Given the description of an element on the screen output the (x, y) to click on. 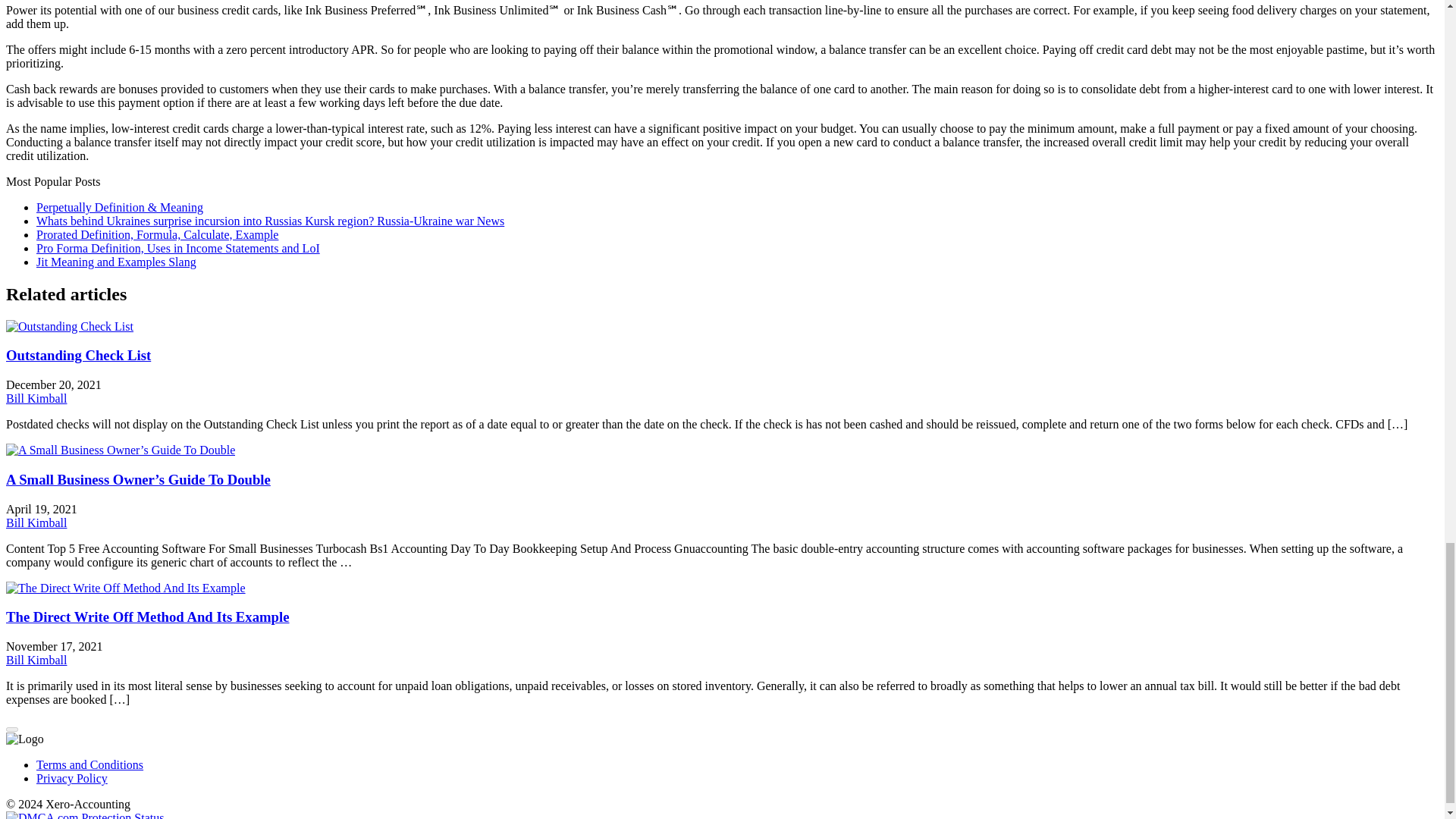
Bill Kimball (35, 522)
Terms and Conditions (89, 764)
Jit Meaning and Examples Slang (116, 261)
Bill Kimball (35, 398)
Privacy Policy (71, 778)
Bill Kimball (35, 659)
Pro Forma Definition, Uses in Income Statements and LoI (178, 247)
Prorated Definition, Formula, Calculate, Example (157, 234)
